Given the description of an element on the screen output the (x, y) to click on. 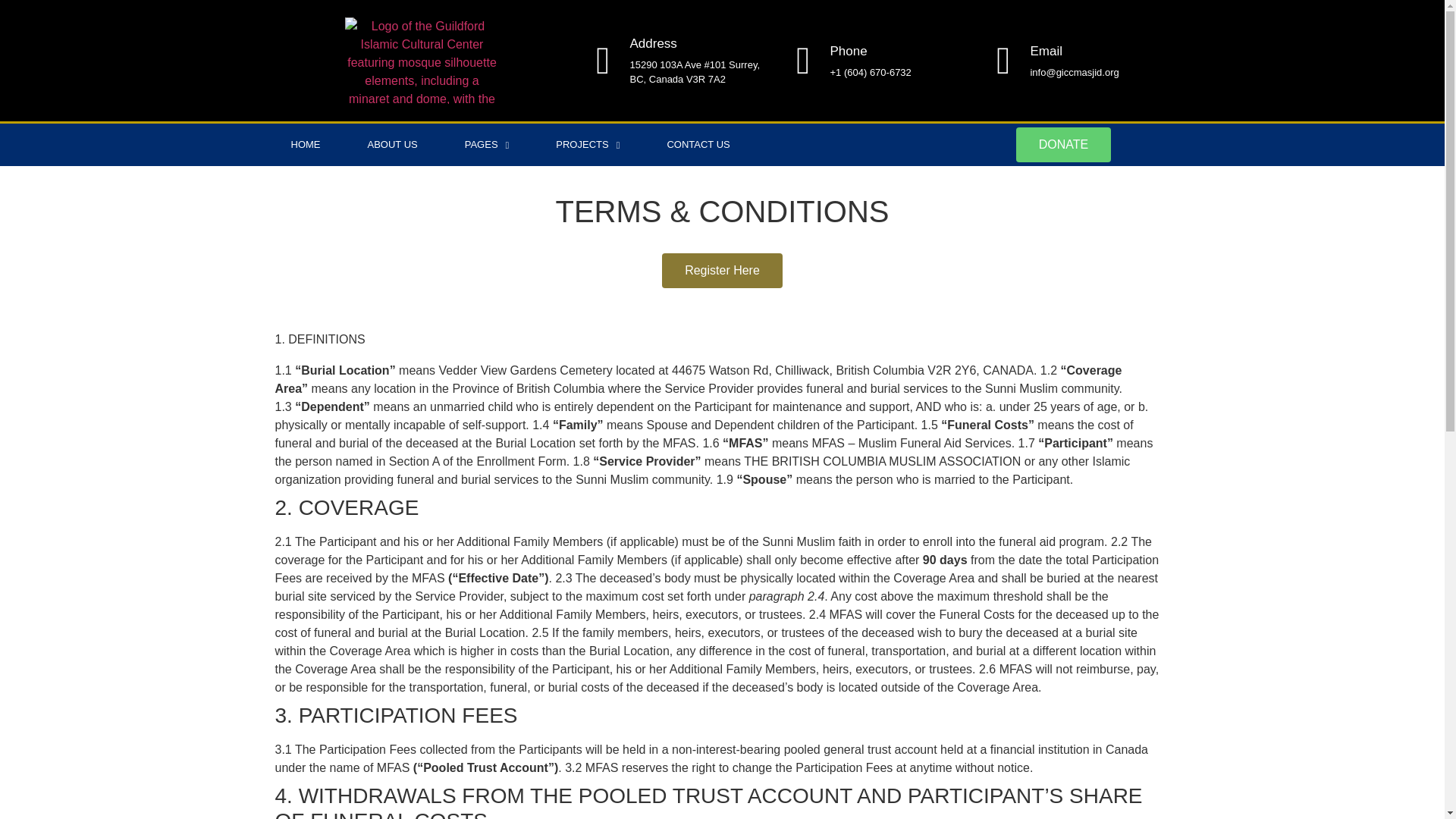
PAGES (486, 144)
HOME (304, 144)
ABOUT US (392, 144)
Register Here (722, 270)
Email (1045, 51)
Phone (847, 51)
CONTACT US (697, 144)
PROJECTS (587, 144)
DONATE (1063, 144)
Address (652, 43)
